Given the description of an element on the screen output the (x, y) to click on. 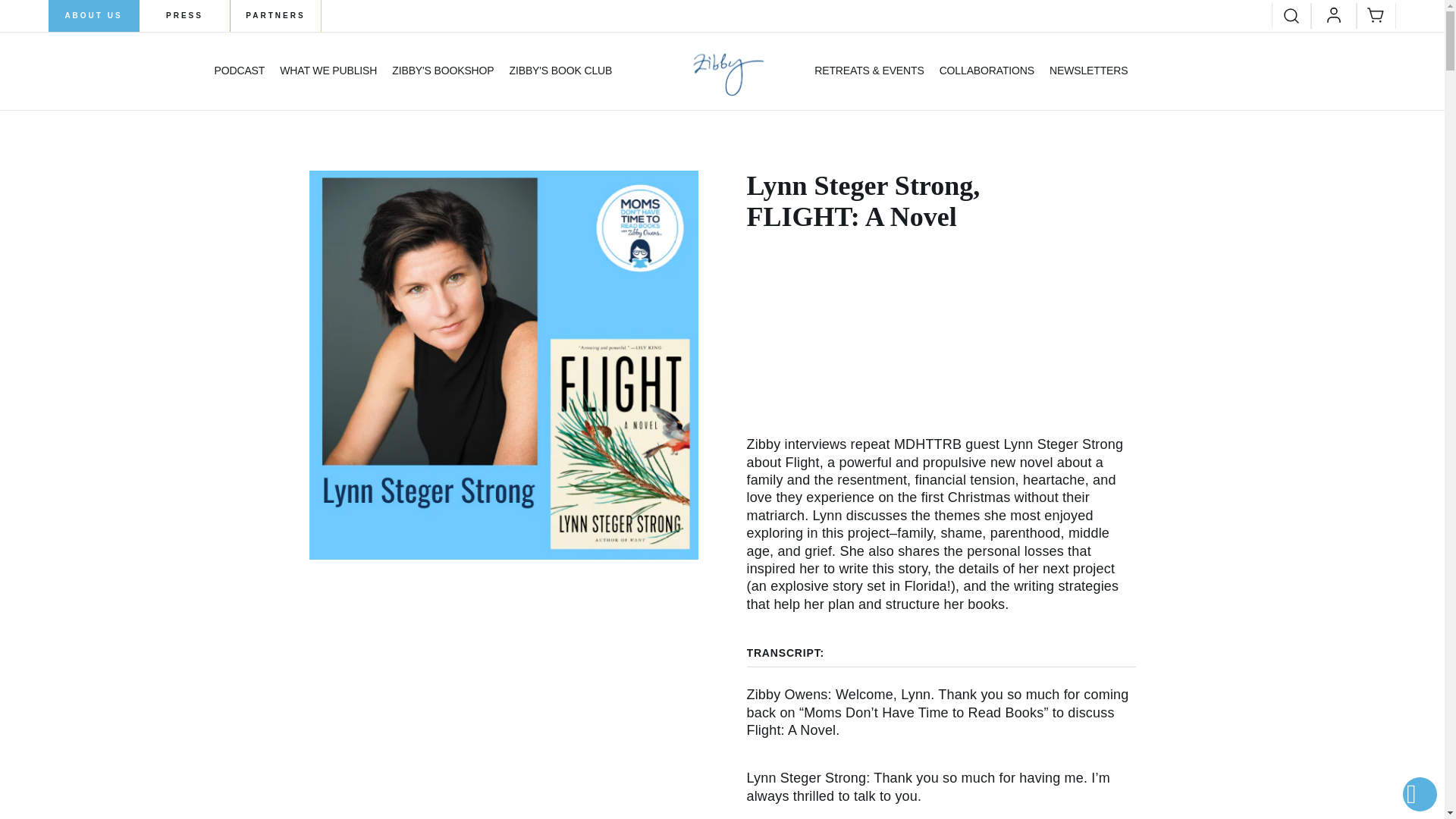
WHAT WE PUBLISH (328, 71)
PARTNERS (275, 15)
ABOUT US (93, 15)
Embed Player (940, 341)
PRESS (184, 15)
COLLABORATIONS (986, 71)
PODCAST (239, 71)
ZIBBY'S BOOK CLUB (560, 71)
ZIBBY'S BOOKSHOP (442, 71)
